Given the description of an element on the screen output the (x, y) to click on. 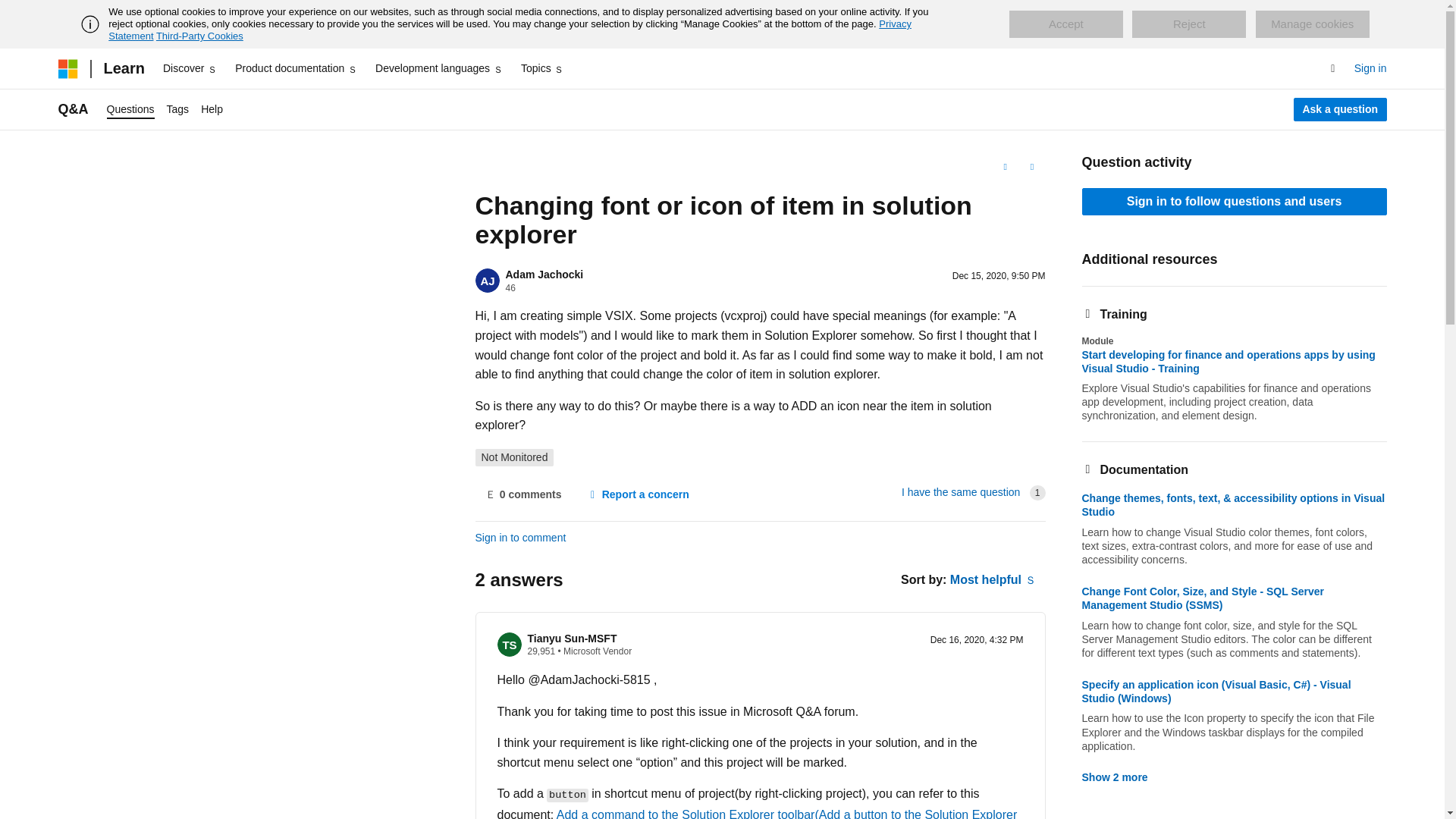
Accept (1065, 23)
Adam Jachocki (544, 274)
Report a concern (637, 494)
Share this question (1031, 166)
Reputation points (541, 651)
Topics (542, 68)
Skip to main content (11, 11)
Reject (1189, 23)
Ask a question (1340, 109)
Sign in (1370, 68)
